Given the description of an element on the screen output the (x, y) to click on. 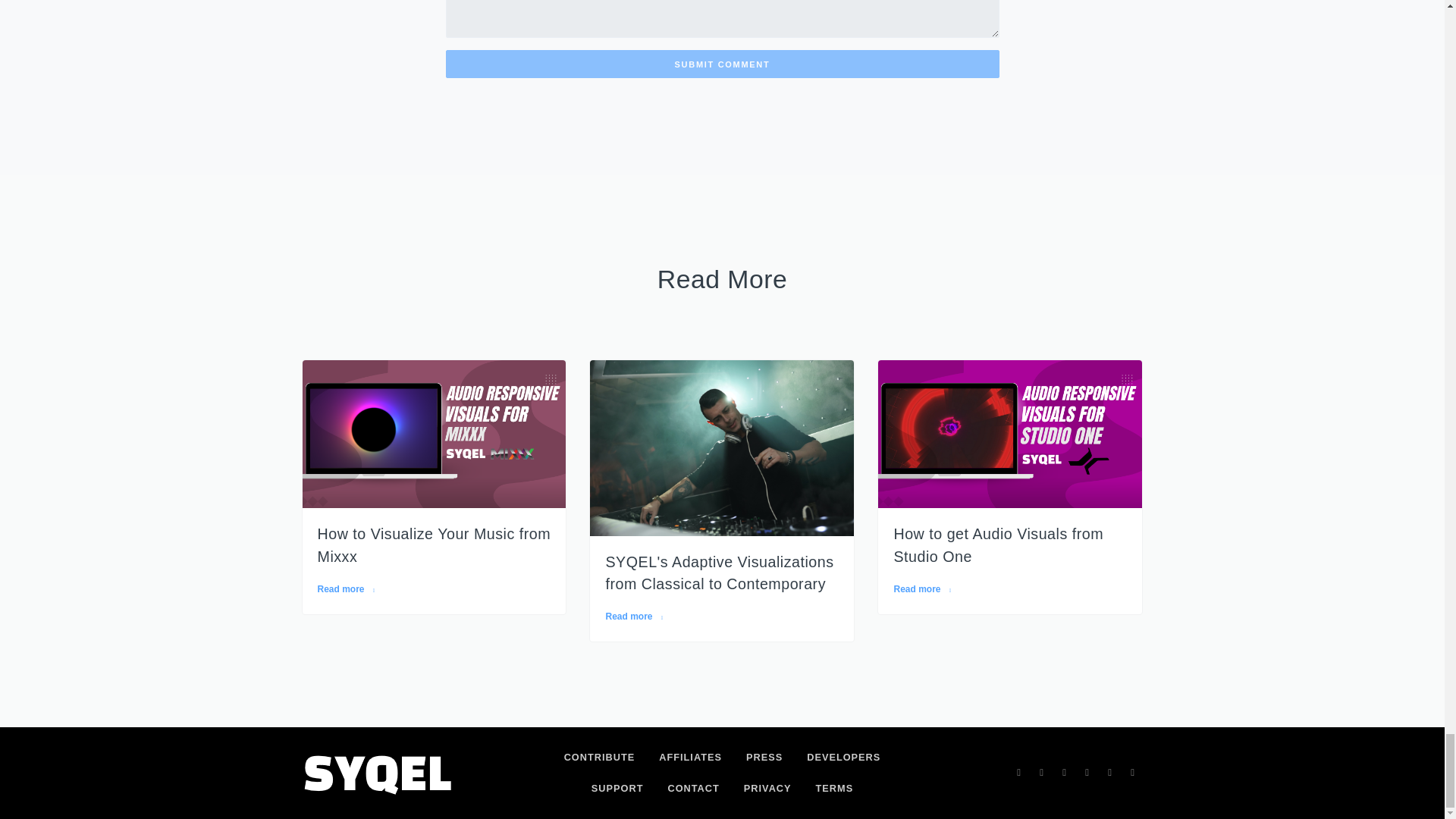
Submit Comment (721, 63)
